Given the description of an element on the screen output the (x, y) to click on. 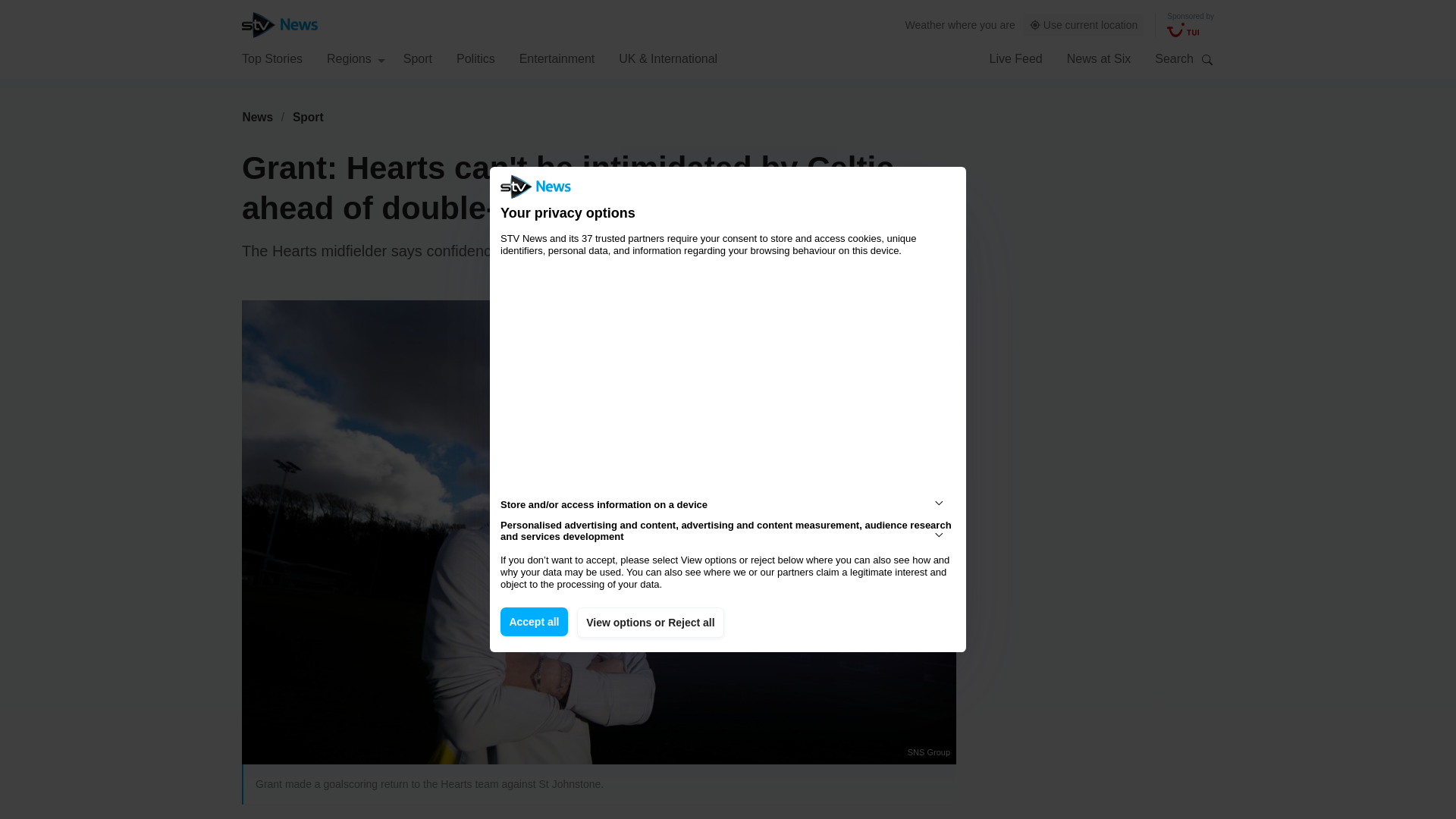
News (257, 116)
Search (1206, 59)
Live Feed (1015, 57)
Entertainment (557, 57)
Sport (308, 116)
Politics (476, 57)
Use current location (1083, 25)
Weather (924, 24)
News at Six (1099, 57)
Regions (355, 57)
